Given the description of an element on the screen output the (x, y) to click on. 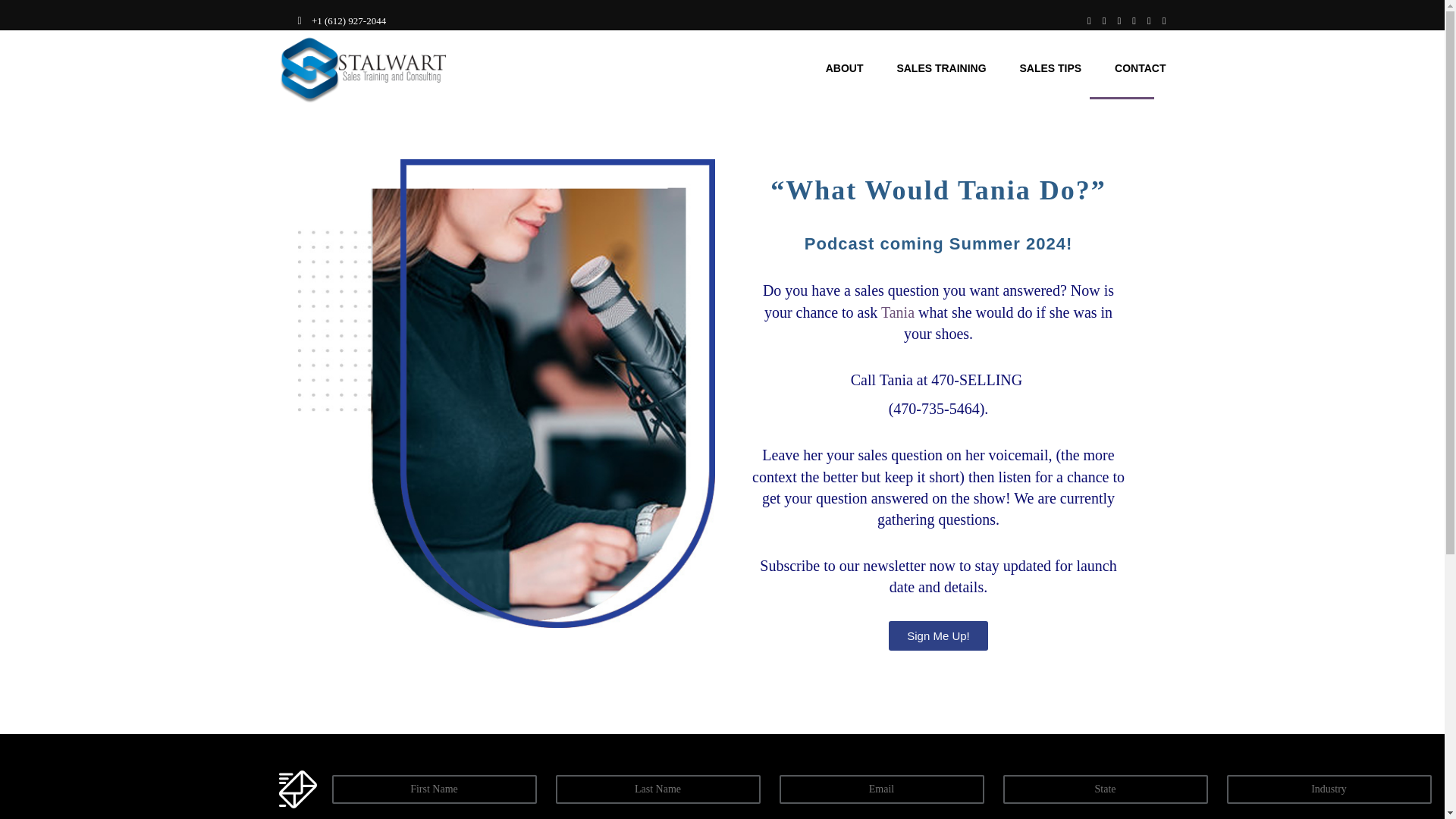
Tania (897, 312)
Sign Me Up! (938, 635)
SALES TRAINING (940, 68)
CONTACT (1140, 68)
ABOUT (844, 68)
SALES TIPS (1050, 68)
